Given the description of an element on the screen output the (x, y) to click on. 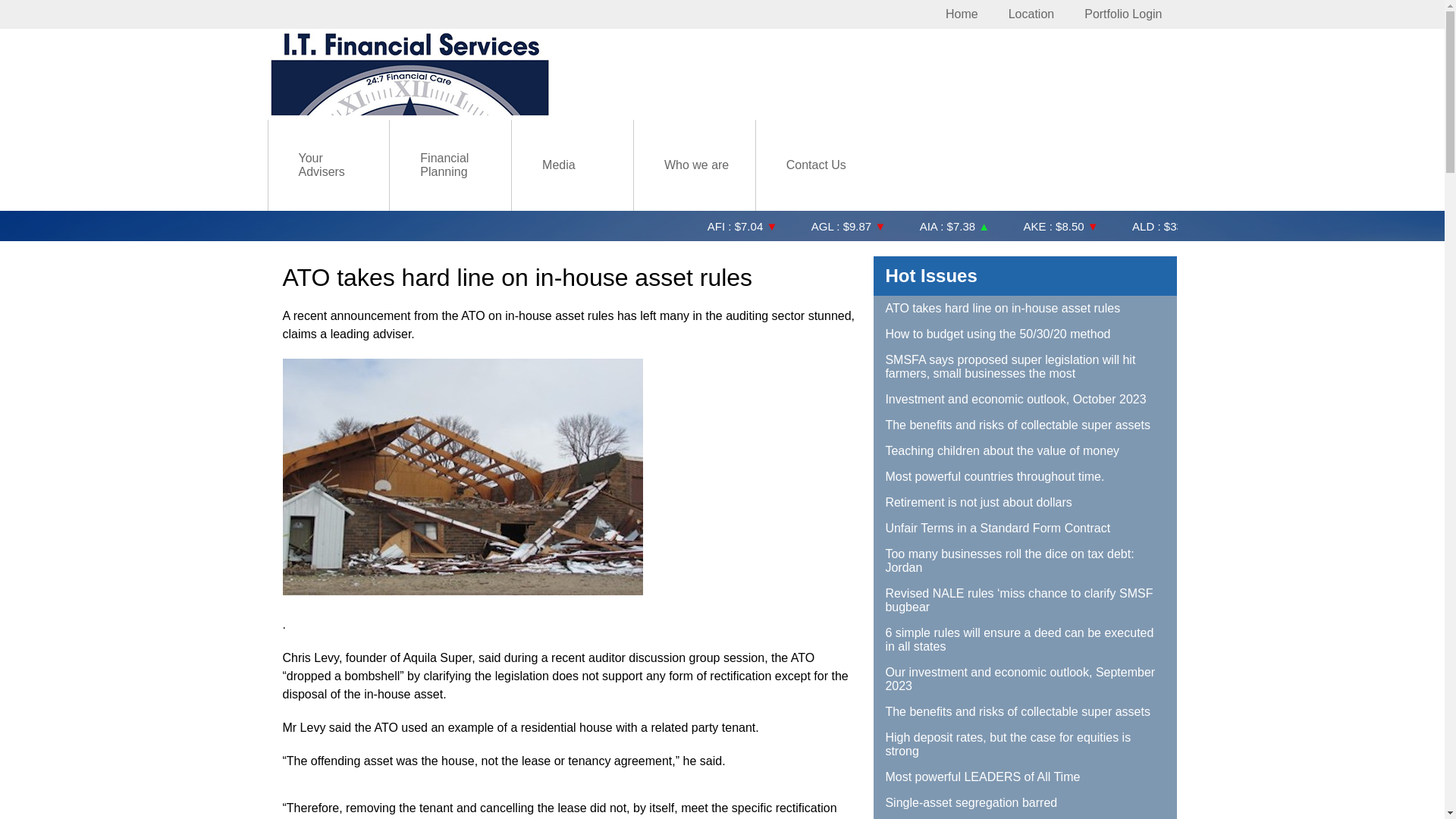
Too many businesses roll the dice on tax debt: Jordan Element type: text (1024, 560)
Media Element type: text (558, 164)
Investment and economic outlook, October 2023 Element type: text (1024, 399)
Contact Us Element type: text (816, 164)
How to budget using the 50/30/20 method Element type: text (1024, 334)
Your Advisers Element type: text (328, 164)
ATO takes hard line on in-house asset rules Element type: text (1024, 308)
Location Element type: text (1031, 14)
Unfair Terms in a Standard Form Contract Element type: text (1024, 528)
Financial Planning Element type: text (450, 164)
Retirement is not just about dollars Element type: text (1024, 502)
High deposit rates, but the case for equities is strong Element type: text (1024, 744)
Most powerful countries throughout time. Element type: text (1024, 476)
Single-asset segregation barred Element type: text (1024, 802)
Our investment and economic outlook, September 2023 Element type: text (1024, 679)
The benefits and risks of collectable super assets Element type: text (1024, 425)
Most powerful LEADERS of All Time Element type: text (1024, 777)
Portfolio Login Element type: text (1122, 14)
Teaching children about the value of money Element type: text (1024, 451)
The benefits and risks of collectable super assets Element type: text (1024, 711)
Who we are Element type: text (696, 164)
Home Element type: text (961, 14)
AGL : $9.87 Element type: text (1177, 221)
